Given the description of an element on the screen output the (x, y) to click on. 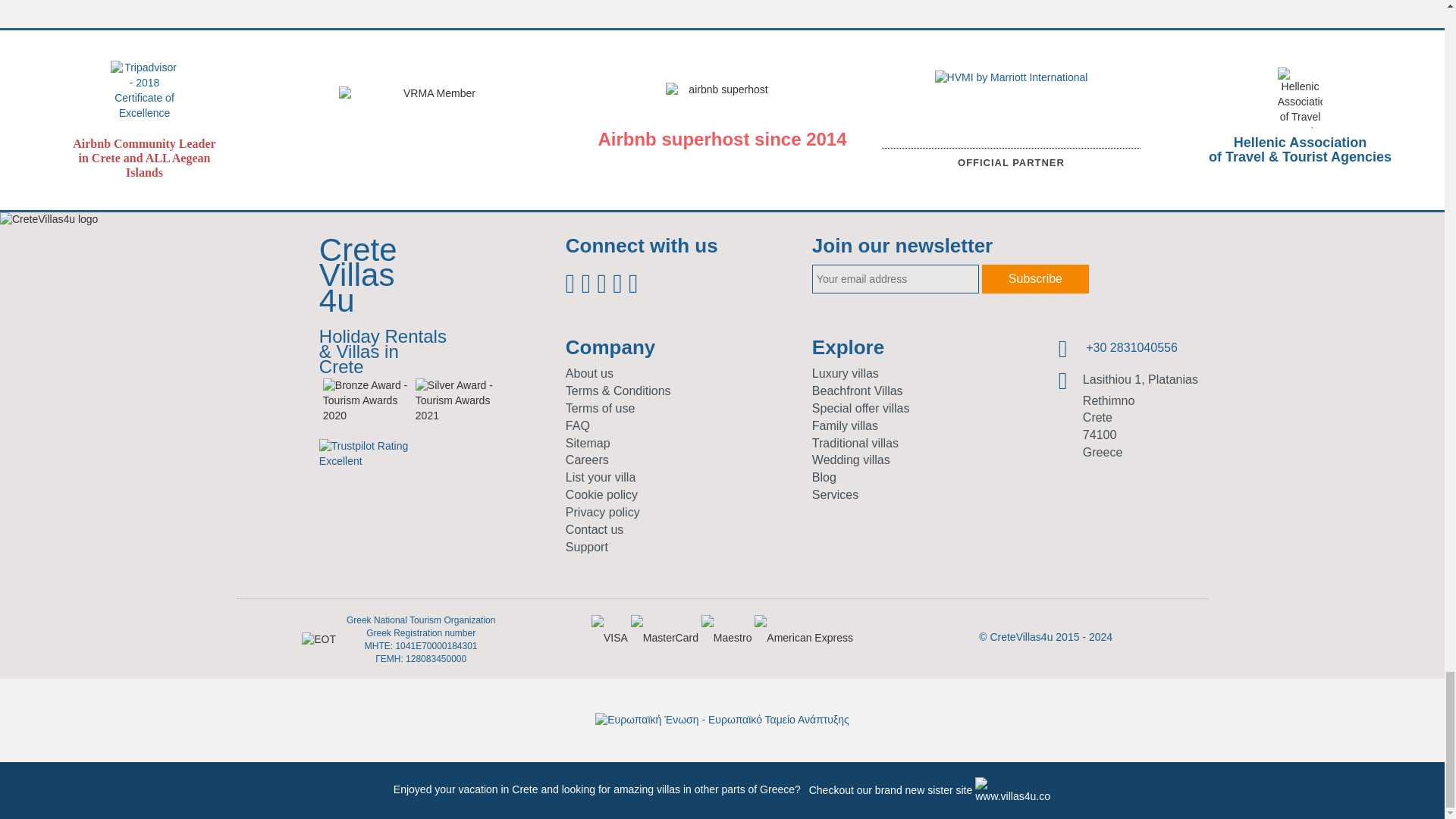
Read about our partnership with Marriott International (1011, 135)
